Given the description of an element on the screen output the (x, y) to click on. 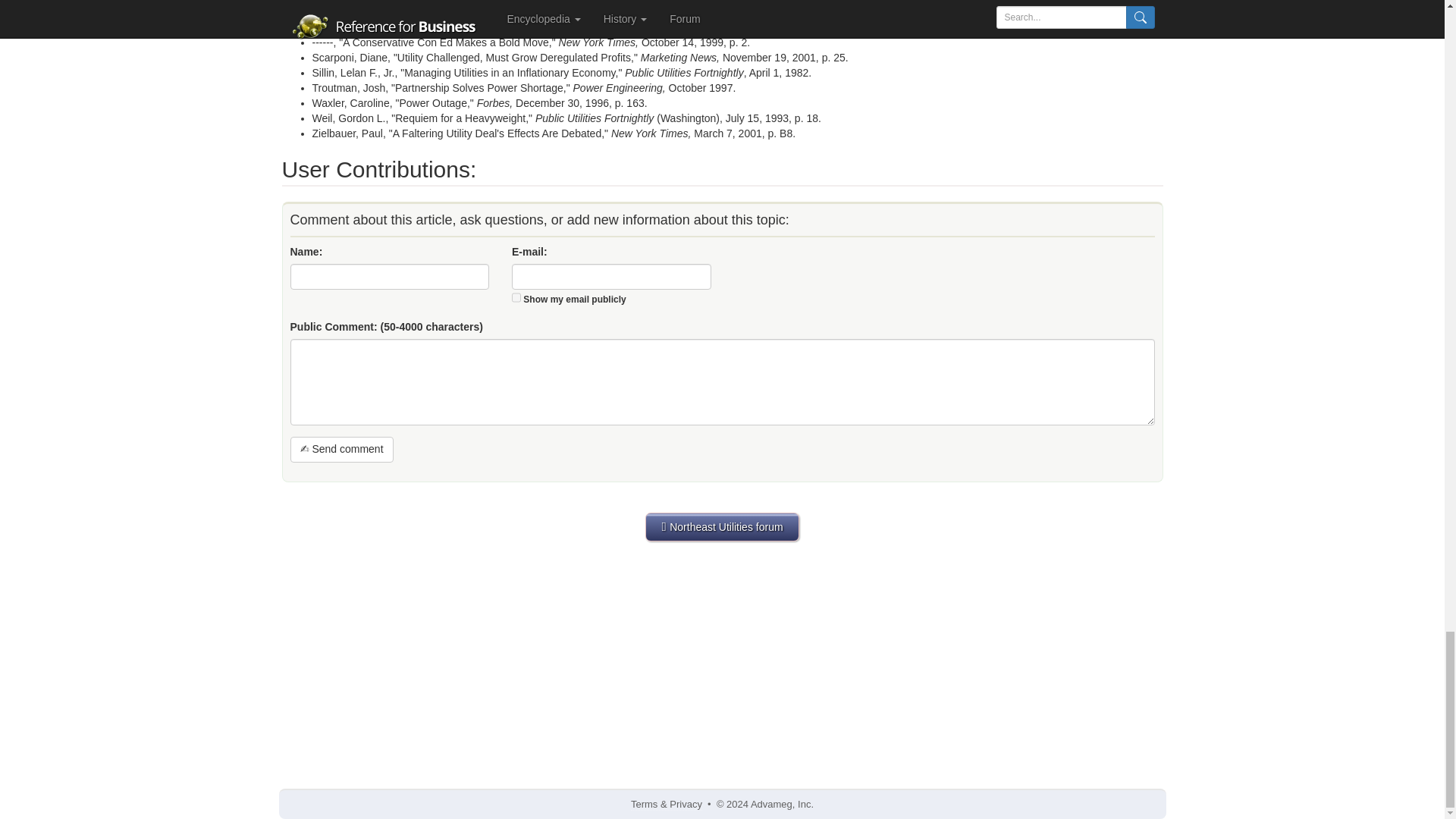
Northeast Utilities forum (721, 526)
1 (516, 297)
